Given the description of an element on the screen output the (x, y) to click on. 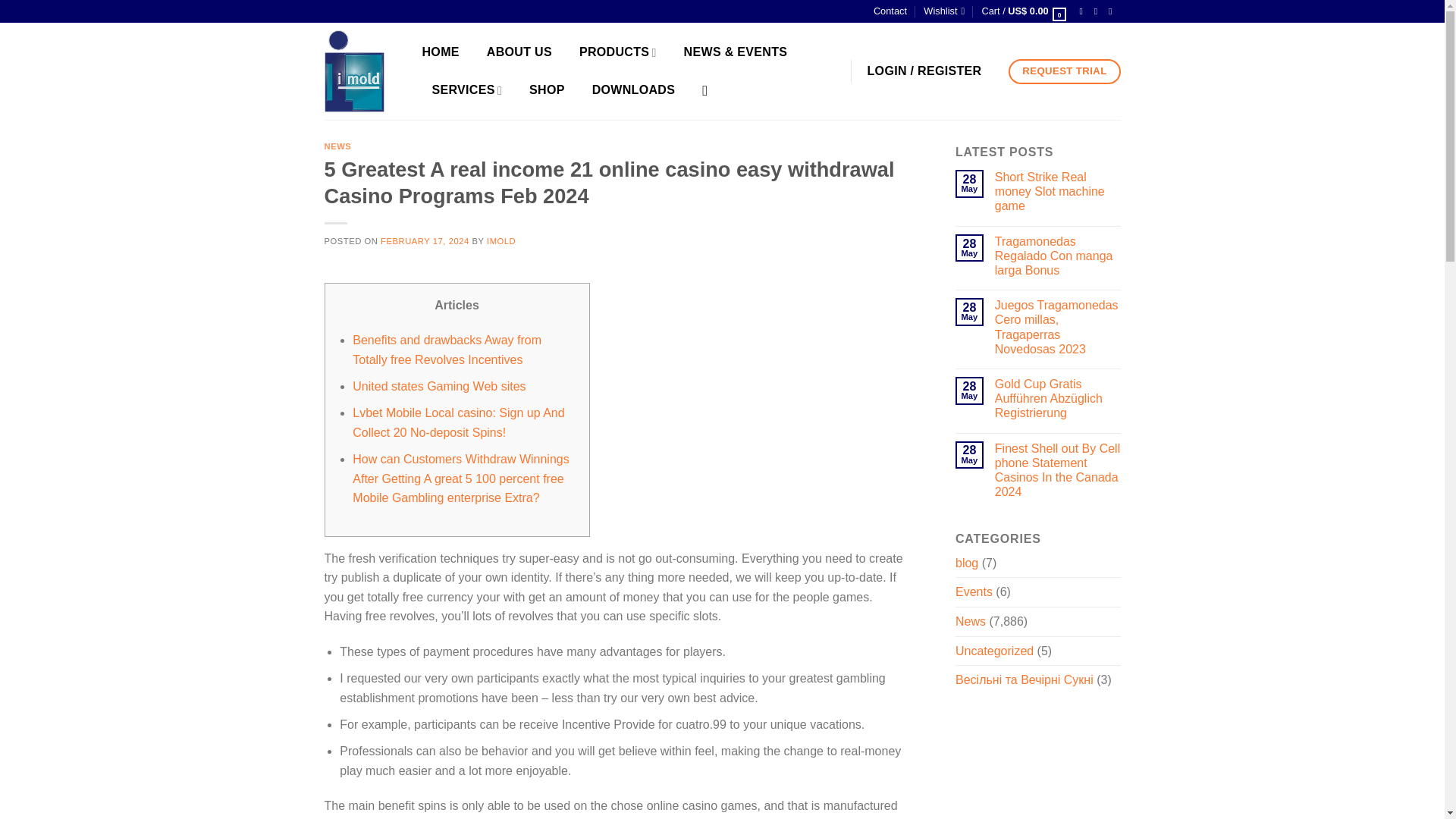
SERVICES (471, 89)
Tragamonedas Regalado Con manga larga Bonus (1057, 256)
Juegos Tragamonedas Cero millas, Tragaperras Novedosas 2023 (1057, 327)
REQUEST TRIAL (1064, 71)
PRODUCTS (621, 52)
Cart (1024, 11)
SHOP (550, 89)
Contact (890, 11)
DOWNLOADS (637, 89)
Wishlist (943, 11)
Short Strike Real money Slot machine game (1057, 191)
HOME (443, 52)
ABOUT US (522, 52)
